Given the description of an element on the screen output the (x, y) to click on. 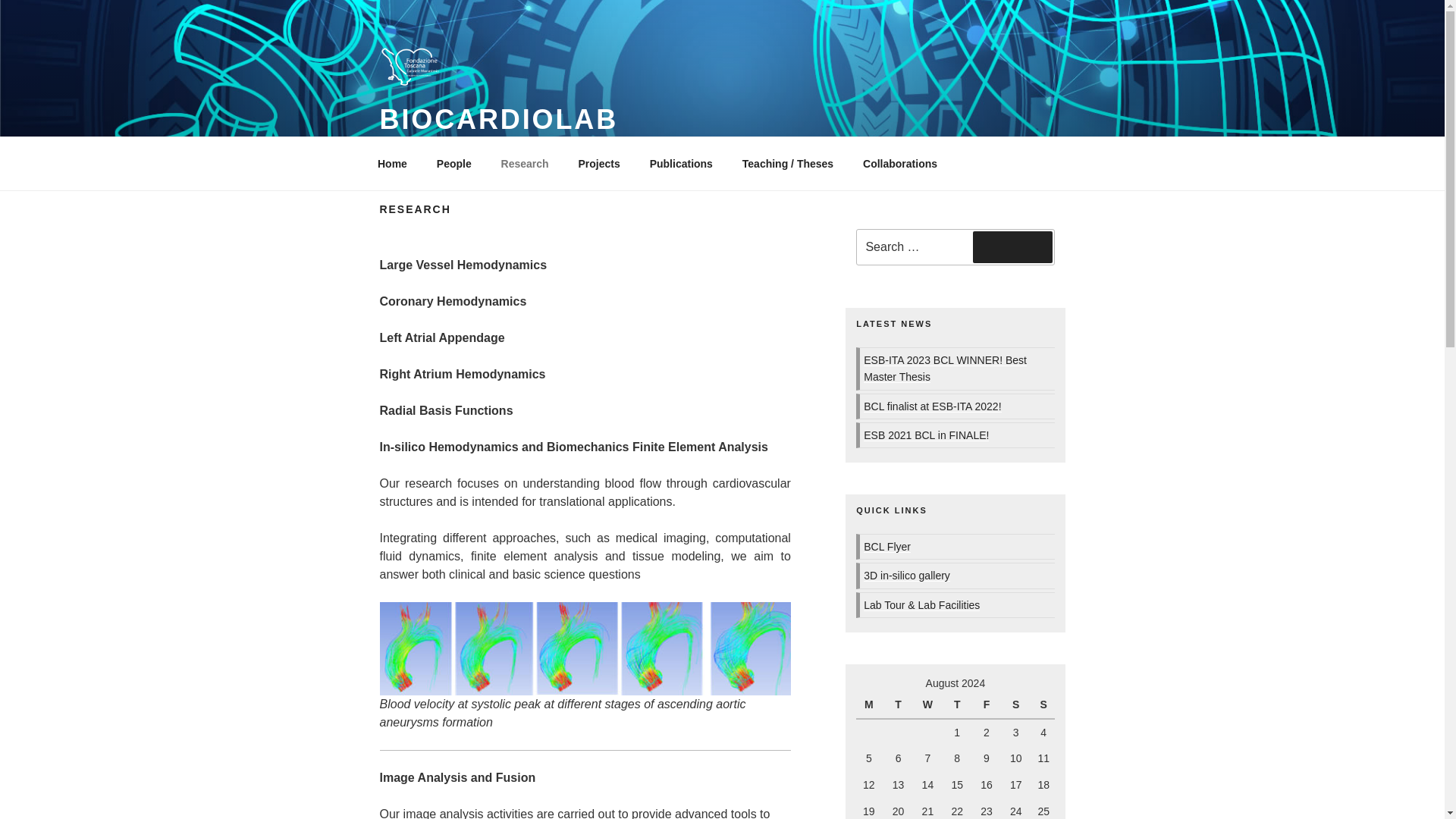
3D in-silico gallery (906, 575)
Thursday (959, 705)
Publications (680, 163)
ESB-ITA 2023 BCL WINNER! Best Master Thesis (944, 368)
Friday (988, 705)
ESB 2021 BCL in FINALE! (925, 435)
Monday (870, 705)
Collaborations (900, 163)
Wednesday (929, 705)
BCL Flyer (887, 546)
